Given the description of an element on the screen output the (x, y) to click on. 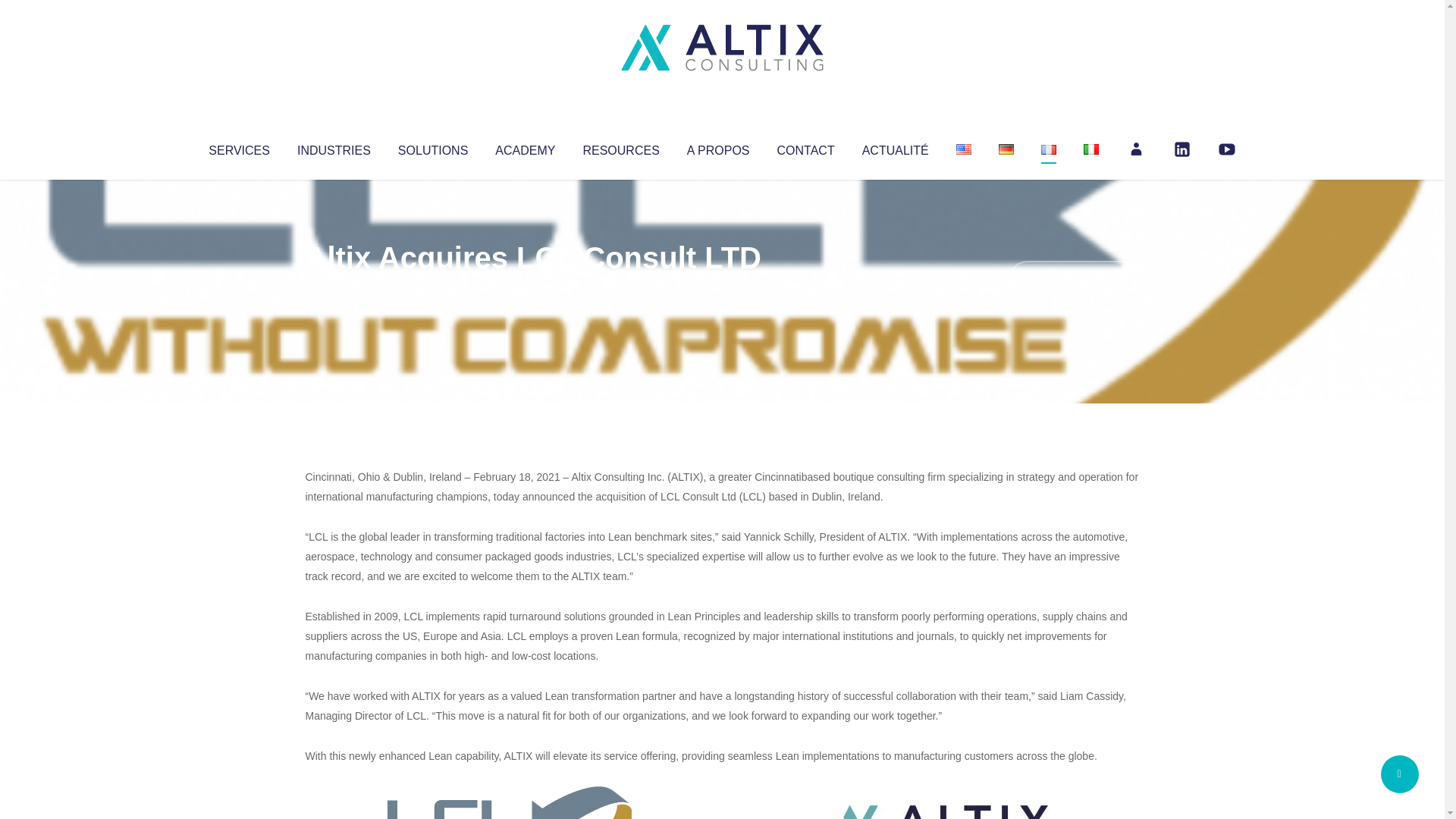
SERVICES (238, 146)
ACADEMY (524, 146)
RESOURCES (620, 146)
Articles par Altix (333, 287)
INDUSTRIES (334, 146)
Uncategorized (530, 287)
No Comments (1073, 278)
Altix (333, 287)
SOLUTIONS (432, 146)
A PROPOS (718, 146)
